Given the description of an element on the screen output the (x, y) to click on. 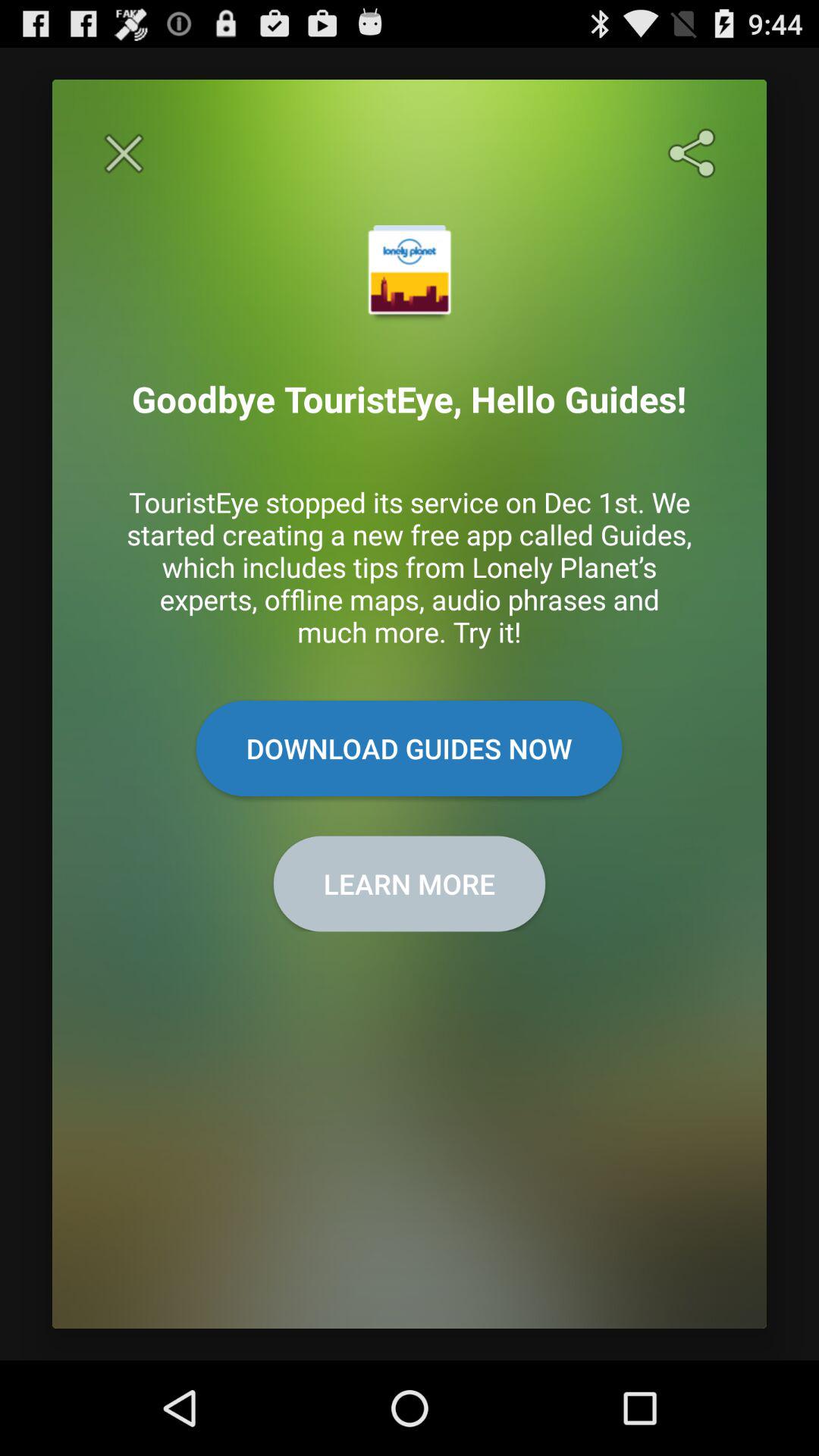
share article (694, 153)
